Given the description of an element on the screen output the (x, y) to click on. 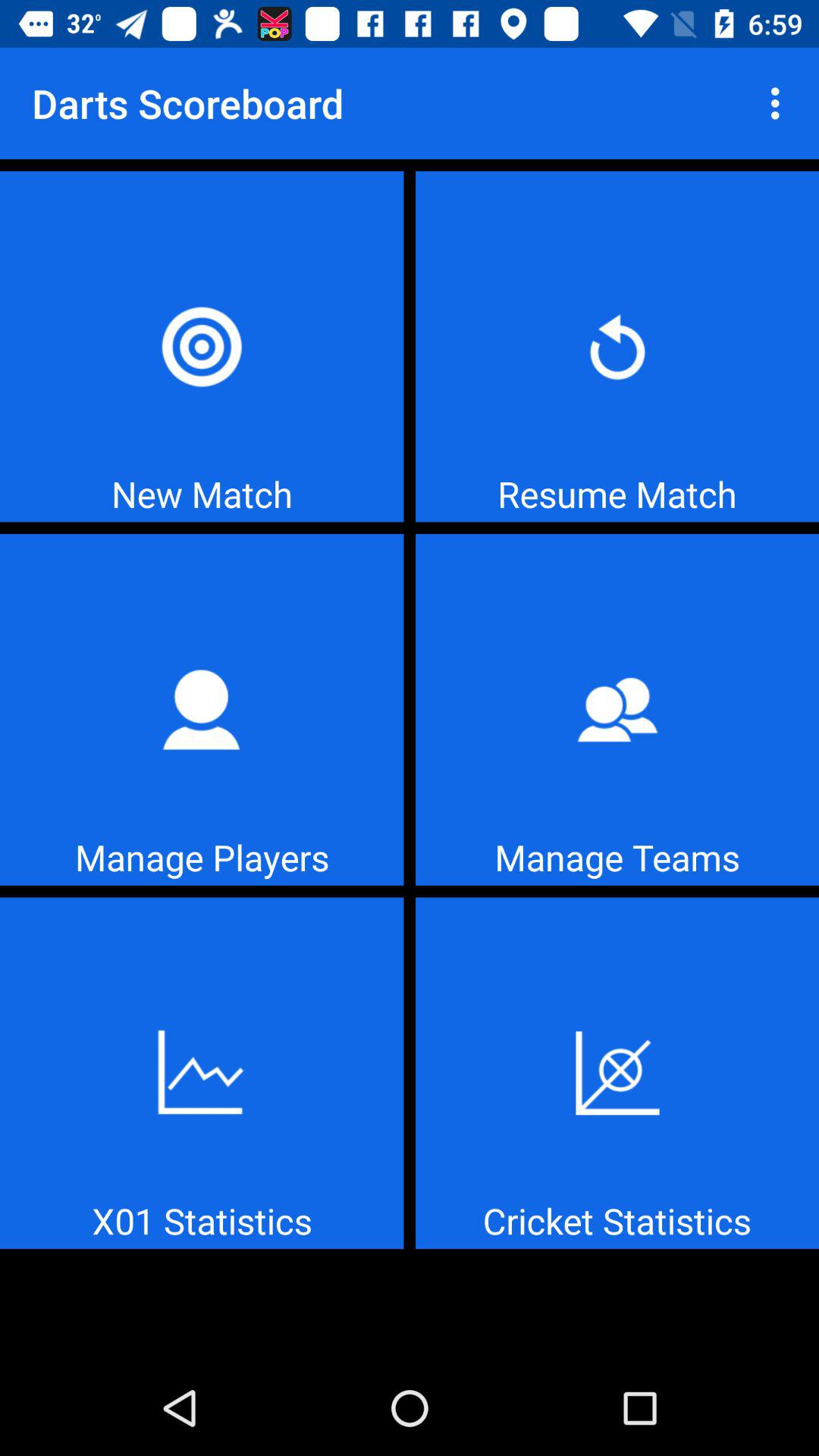
resume darts match (617, 346)
